Given the description of an element on the screen output the (x, y) to click on. 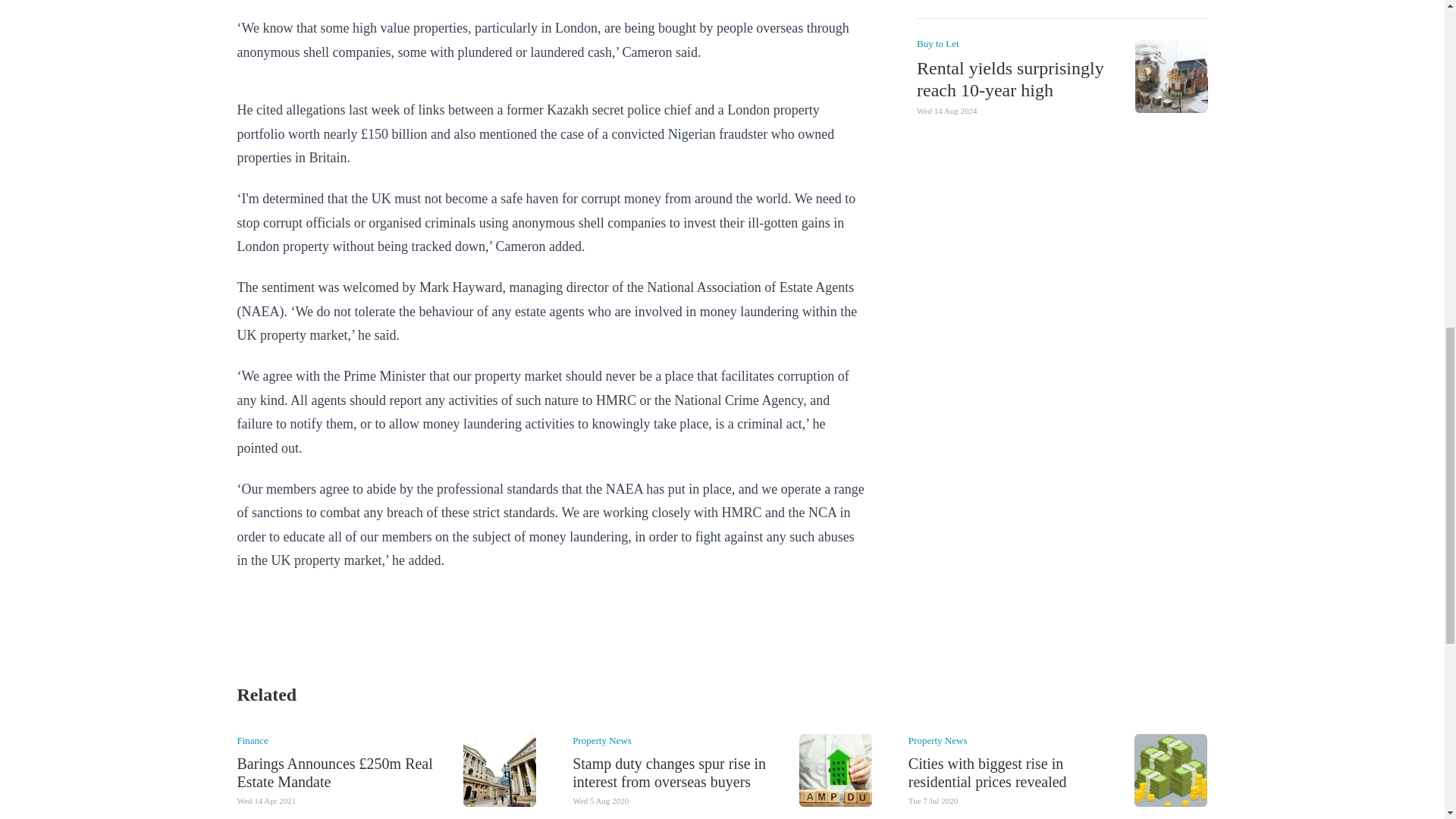
Buy to Let (936, 42)
Rental yields surprisingly reach 10-year high (1009, 78)
Property News (938, 740)
Property News (601, 740)
Cities with biggest rise in residential prices revealed (987, 772)
Finance (251, 740)
